Given the description of an element on the screen output the (x, y) to click on. 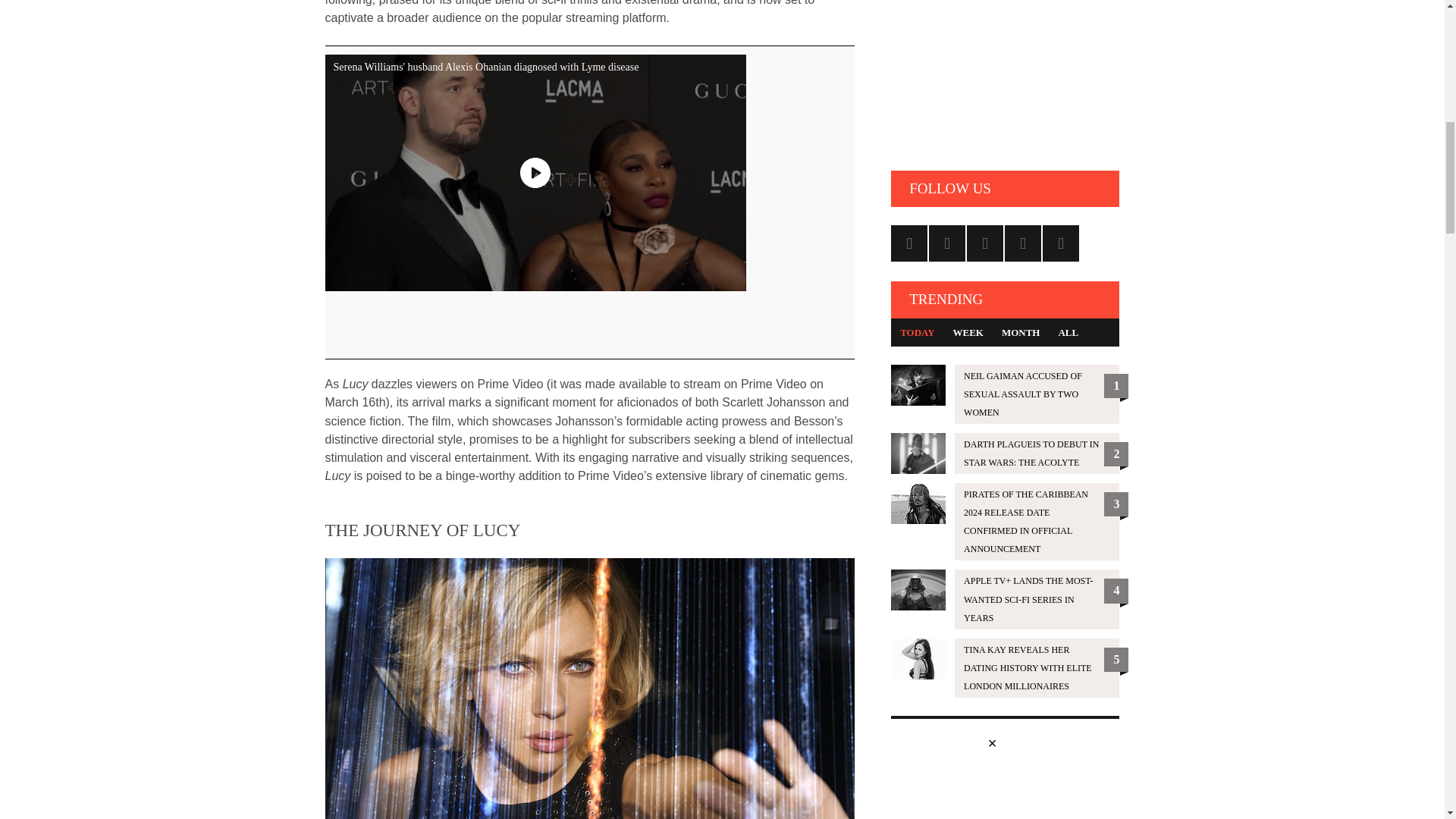
Darth Plagueis To Debut In Star Wars: The Acolyte (1005, 453)
Neil Gaiman Accused Of Sexual Assault By Two Women (1005, 394)
